Given the description of an element on the screen output the (x, y) to click on. 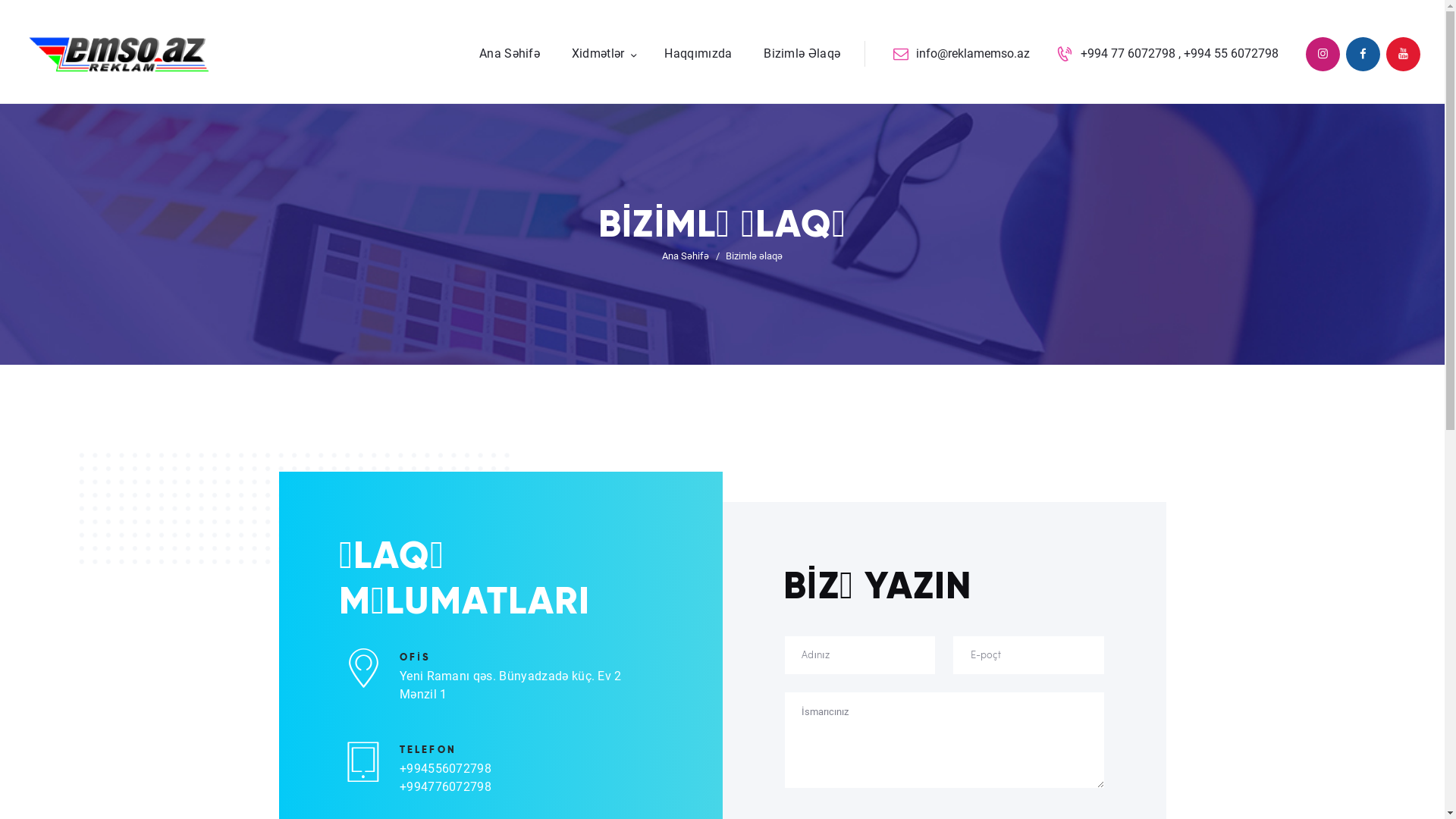
+994 55 6072798 Element type: text (1230, 53)
+994 77 6072798 Element type: text (1127, 53)
info@reklamemso.az Element type: text (961, 53)
